Given the description of an element on the screen output the (x, y) to click on. 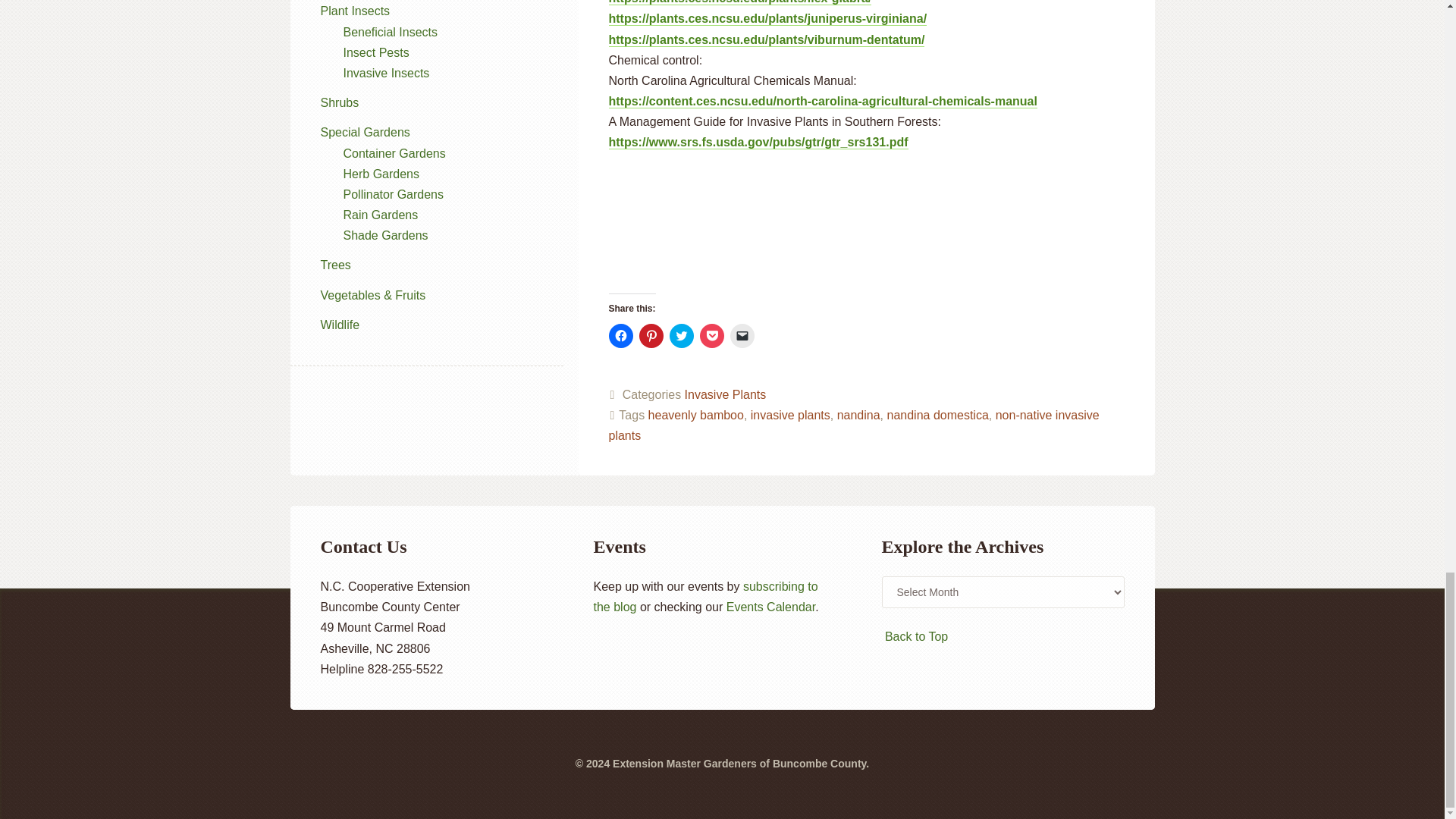
Click to share on Twitter (680, 335)
Click to share on Pocket (710, 335)
Click to share on Facebook (619, 335)
Click to share on Pinterest (650, 335)
Click to email a link to a friend (741, 335)
